Given the description of an element on the screen output the (x, y) to click on. 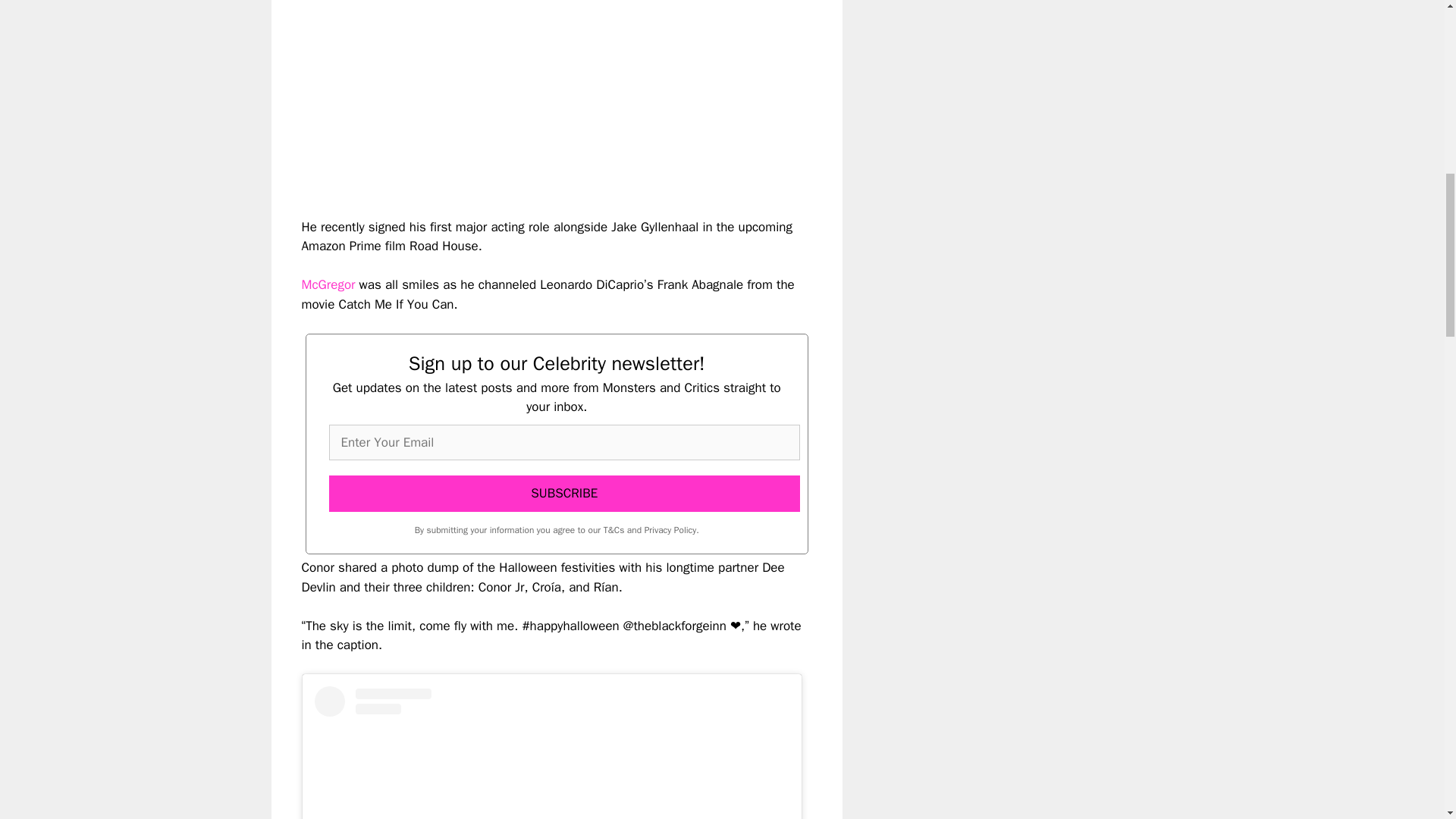
View this post on Instagram (551, 752)
SUBSCRIBE (564, 493)
SUBSCRIBE (564, 493)
YouTube video player (513, 96)
McGregor (330, 284)
